Given the description of an element on the screen output the (x, y) to click on. 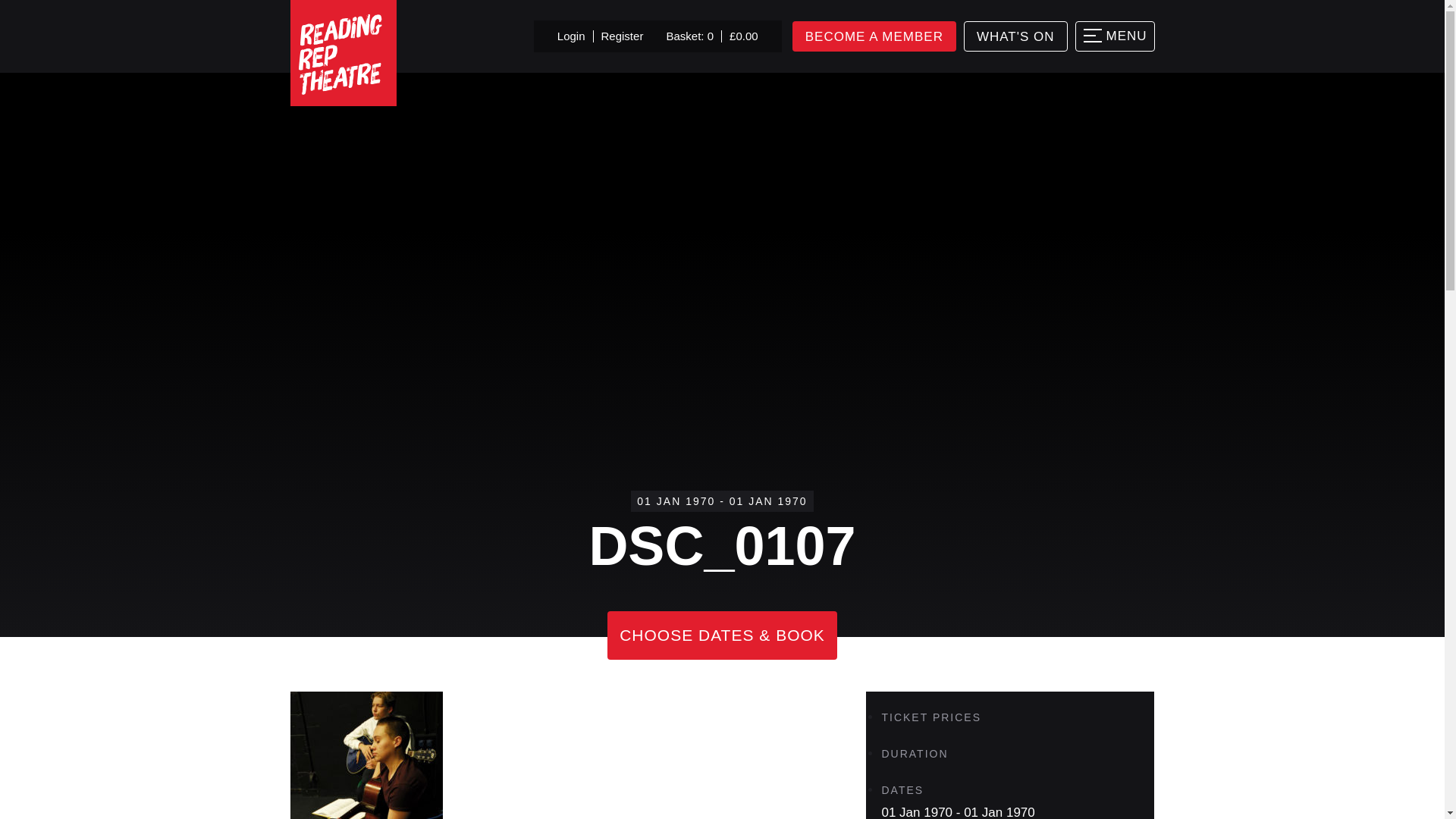
Login (571, 36)
MENU (1114, 36)
BECOME A MEMBER (874, 36)
WHAT'S ON (1015, 36)
Register (622, 36)
